Given the description of an element on the screen output the (x, y) to click on. 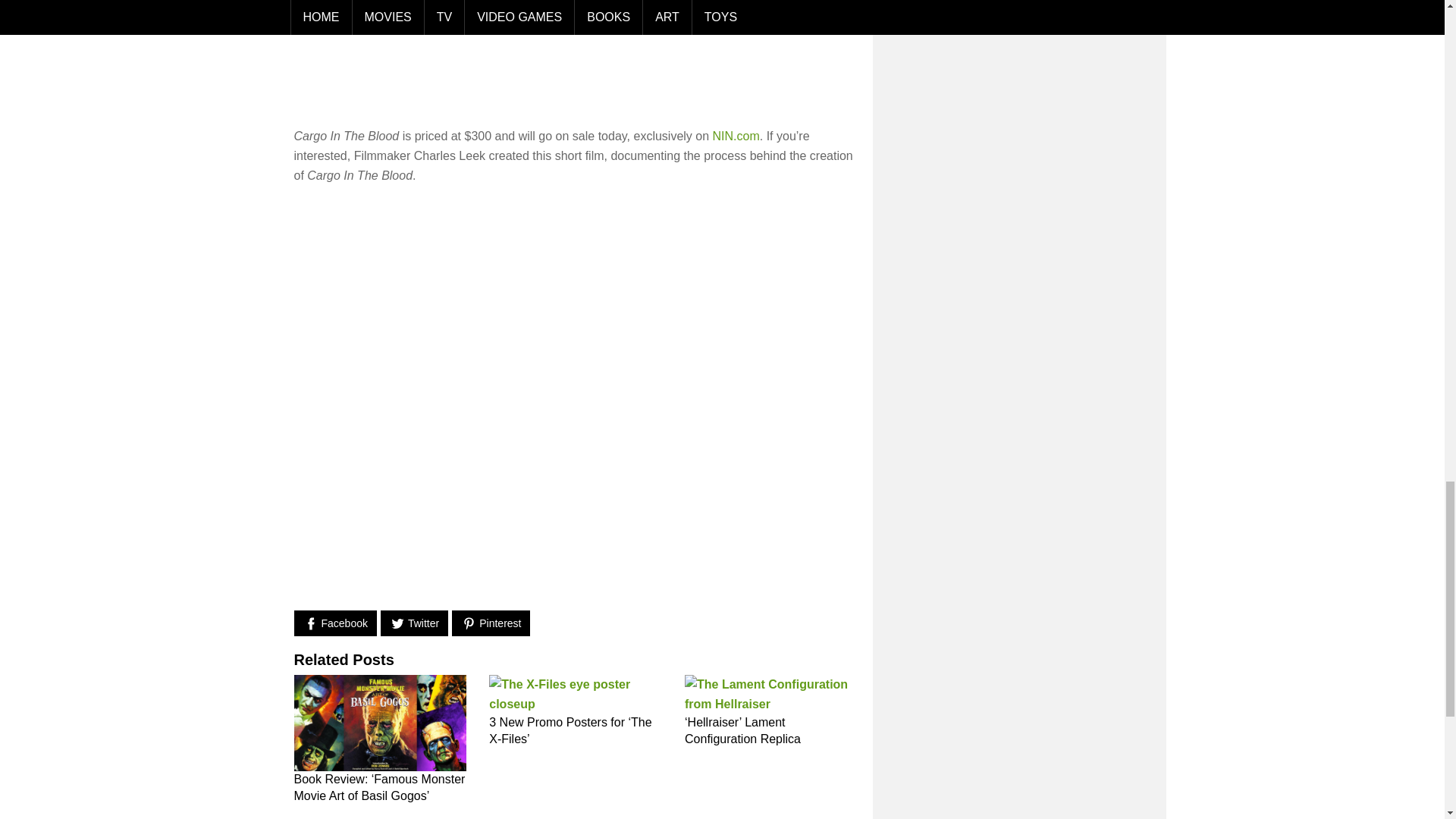
Cargo-in-the-Blood-set (633, 53)
NIN.com (736, 135)
Pinterest (490, 623)
Twitter (414, 623)
Facebook (335, 623)
